Given the description of an element on the screen output the (x, y) to click on. 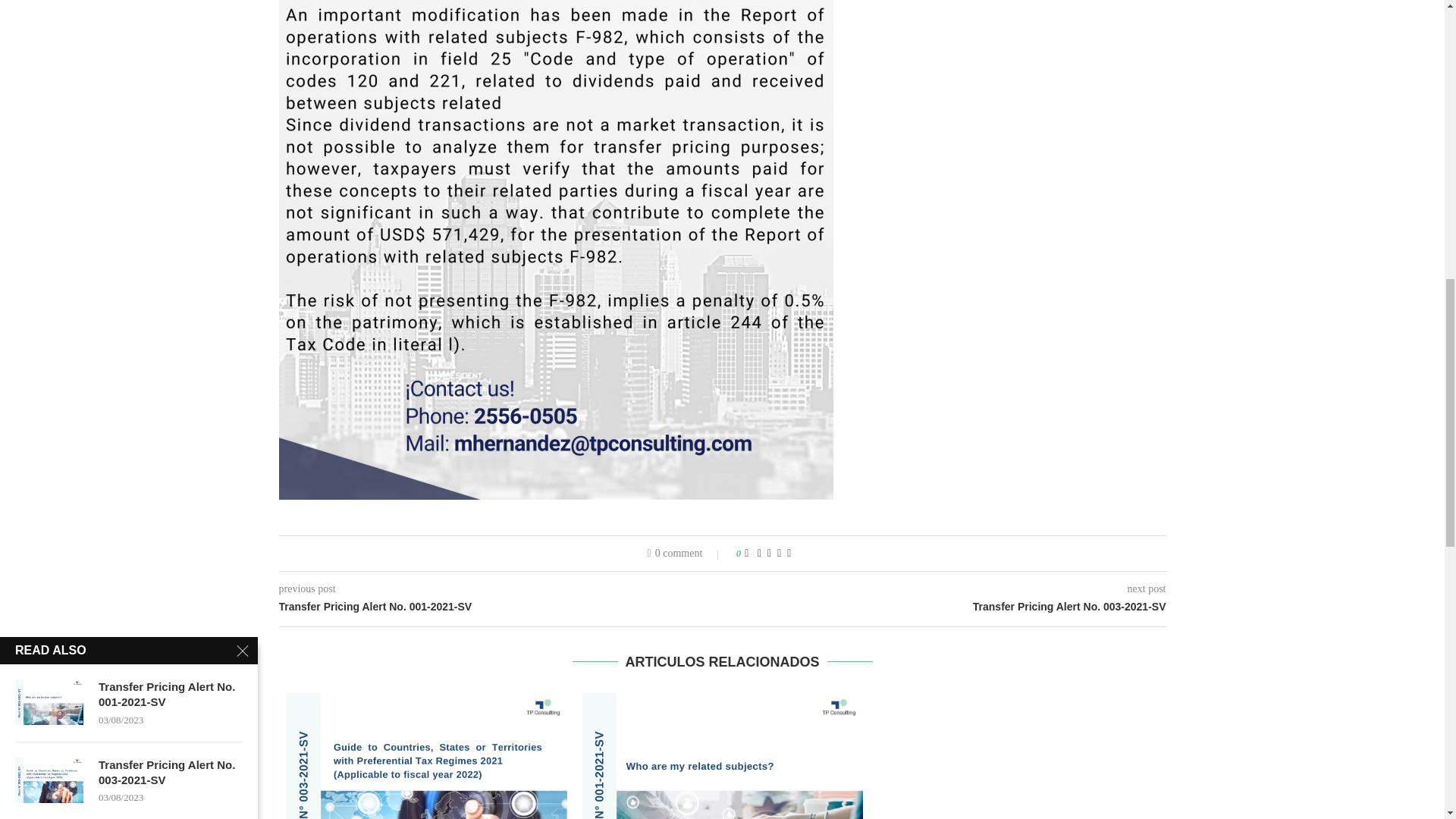
Transfer Pricing Alert No. 003-2021-SV (426, 755)
Transfer Pricing Alert No. 001-2021-SV (722, 755)
